Given the description of an element on the screen output the (x, y) to click on. 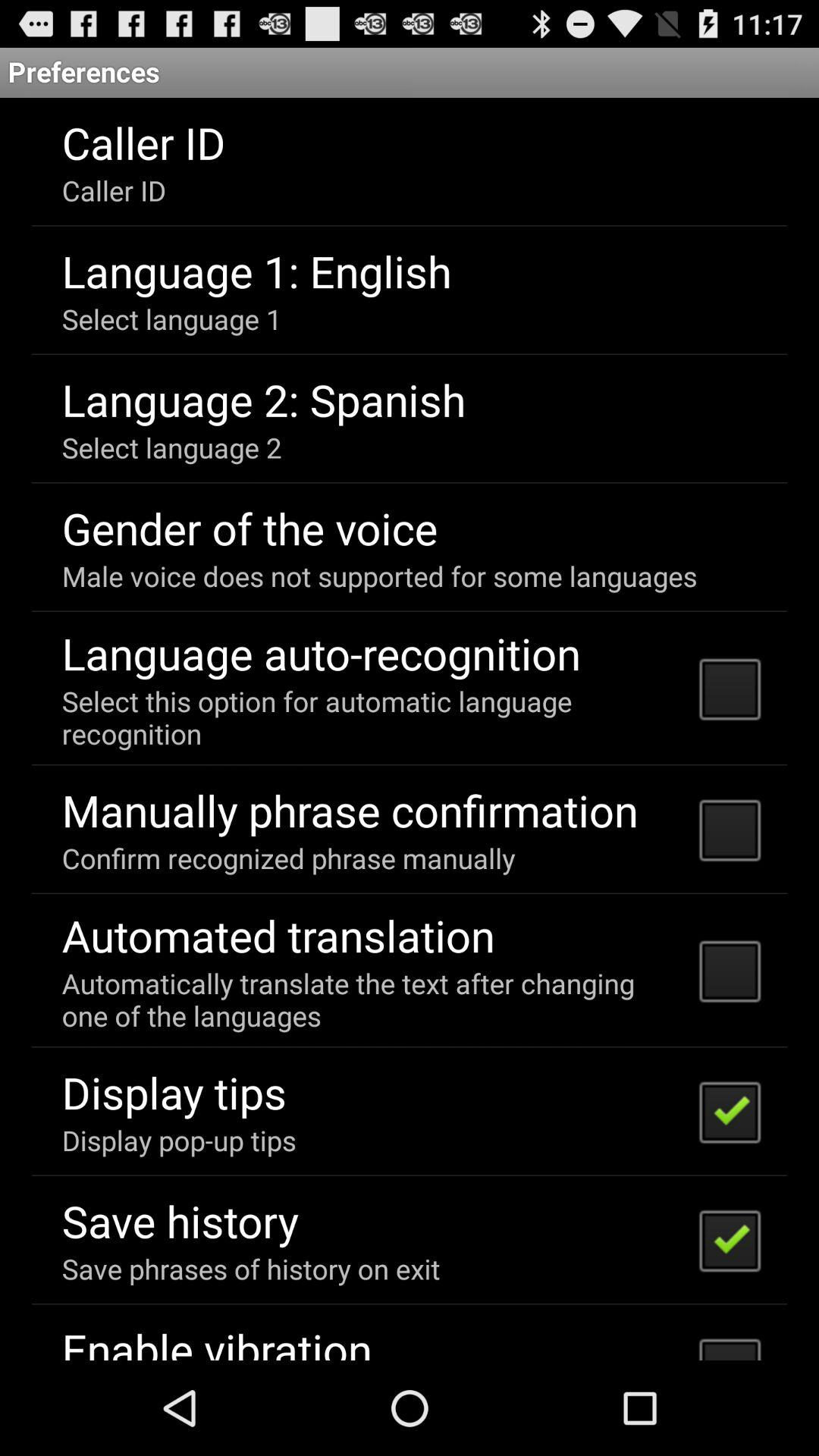
select icon below language auto-recognition (370, 717)
